Given the description of an element on the screen output the (x, y) to click on. 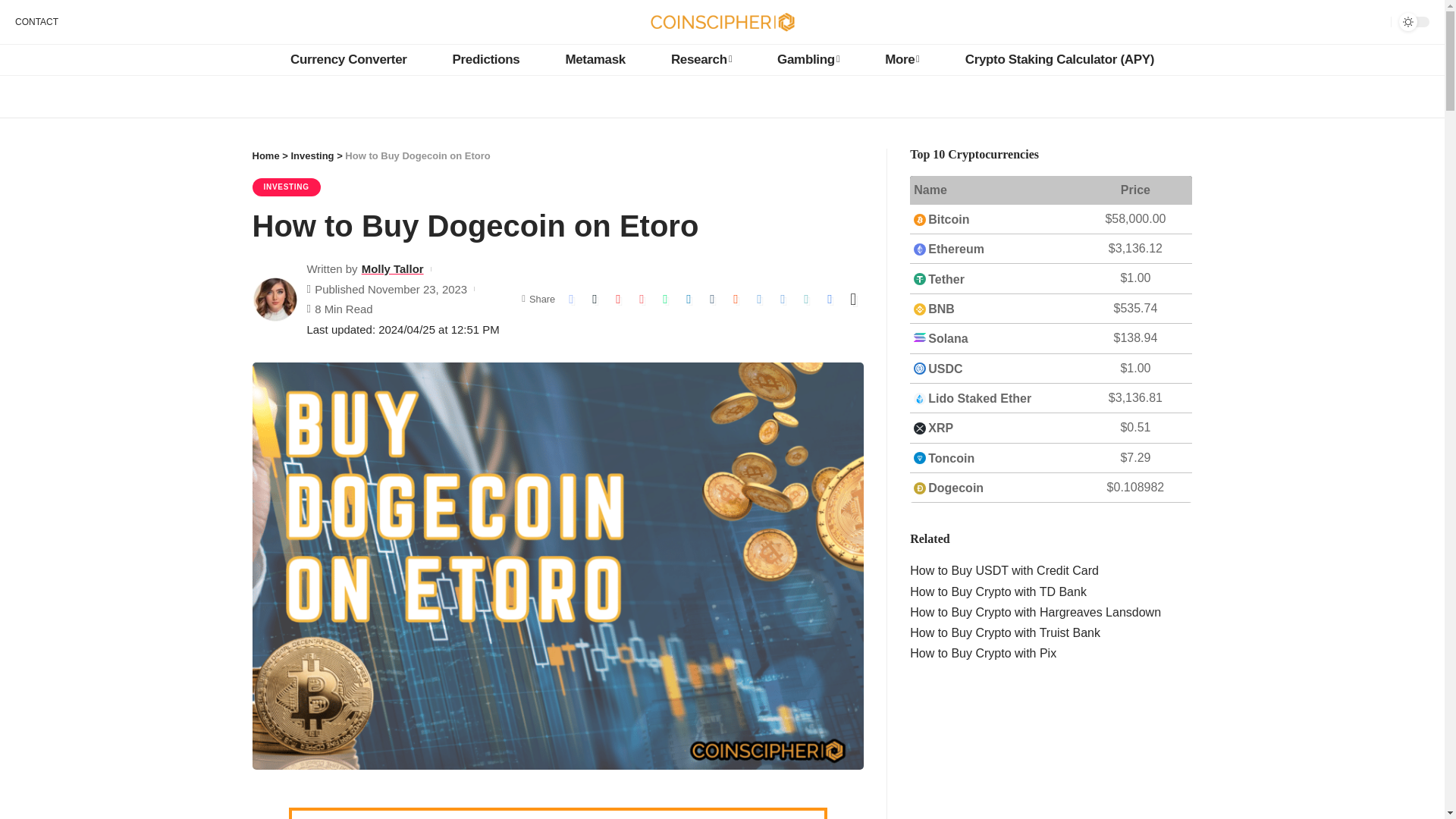
Gambling (807, 60)
Currency Converter (348, 60)
More (901, 60)
Predictions (486, 60)
Go to the Investing Category archives. (311, 155)
Metamask (594, 60)
Research (700, 60)
CONTACT (36, 21)
